Given the description of an element on the screen output the (x, y) to click on. 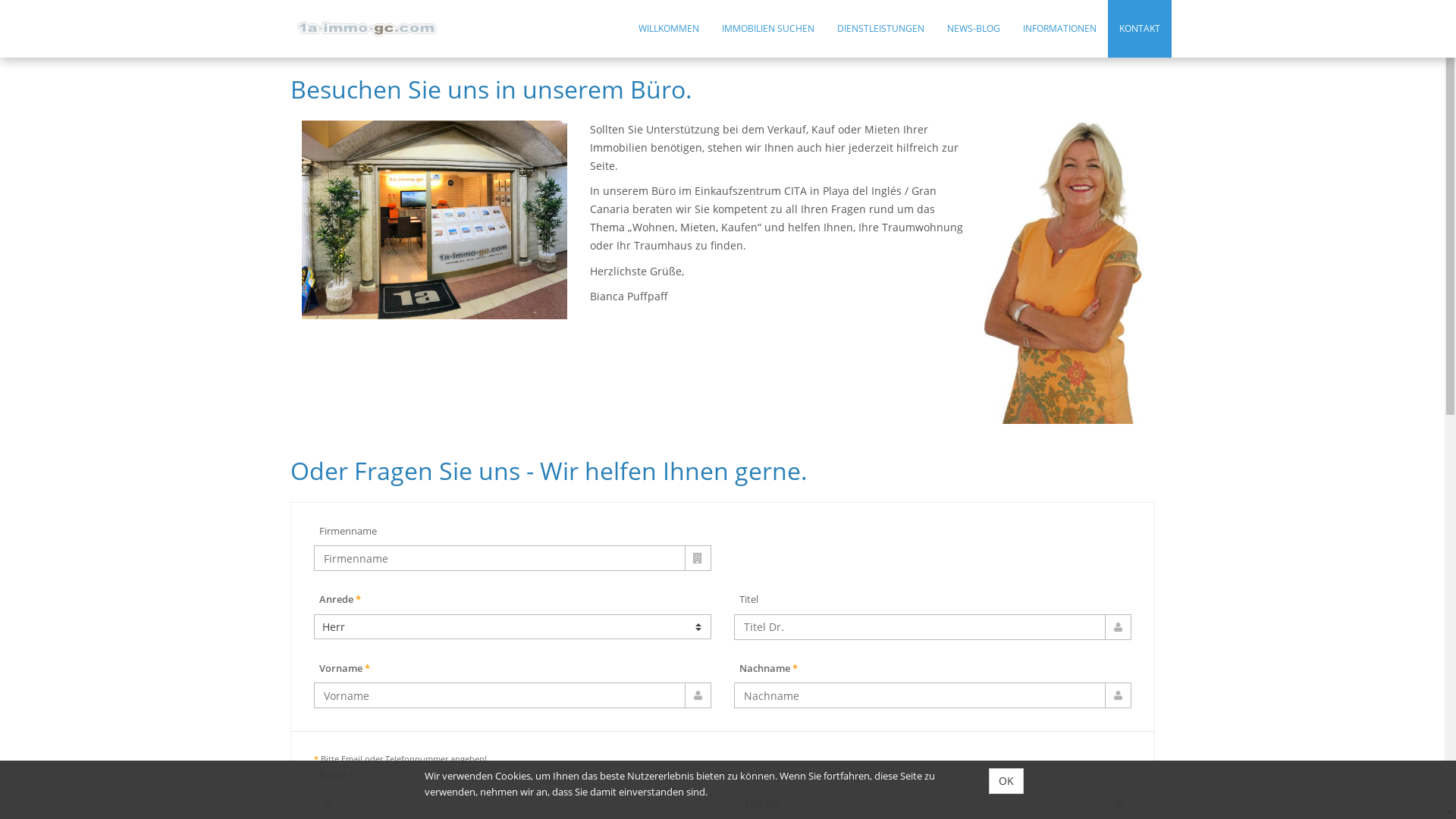
DIENSTLEISTUNGEN Element type: text (880, 28)
NEWS-BLOG Element type: text (973, 28)
IMMOBILIEN SUCHEN Element type: text (767, 28)
INFORMATIONEN Element type: text (1059, 28)
WILLKOMMEN Element type: text (668, 28)
KONTAKT Element type: text (1139, 28)
OK Element type: text (1005, 780)
